Given the description of an element on the screen output the (x, y) to click on. 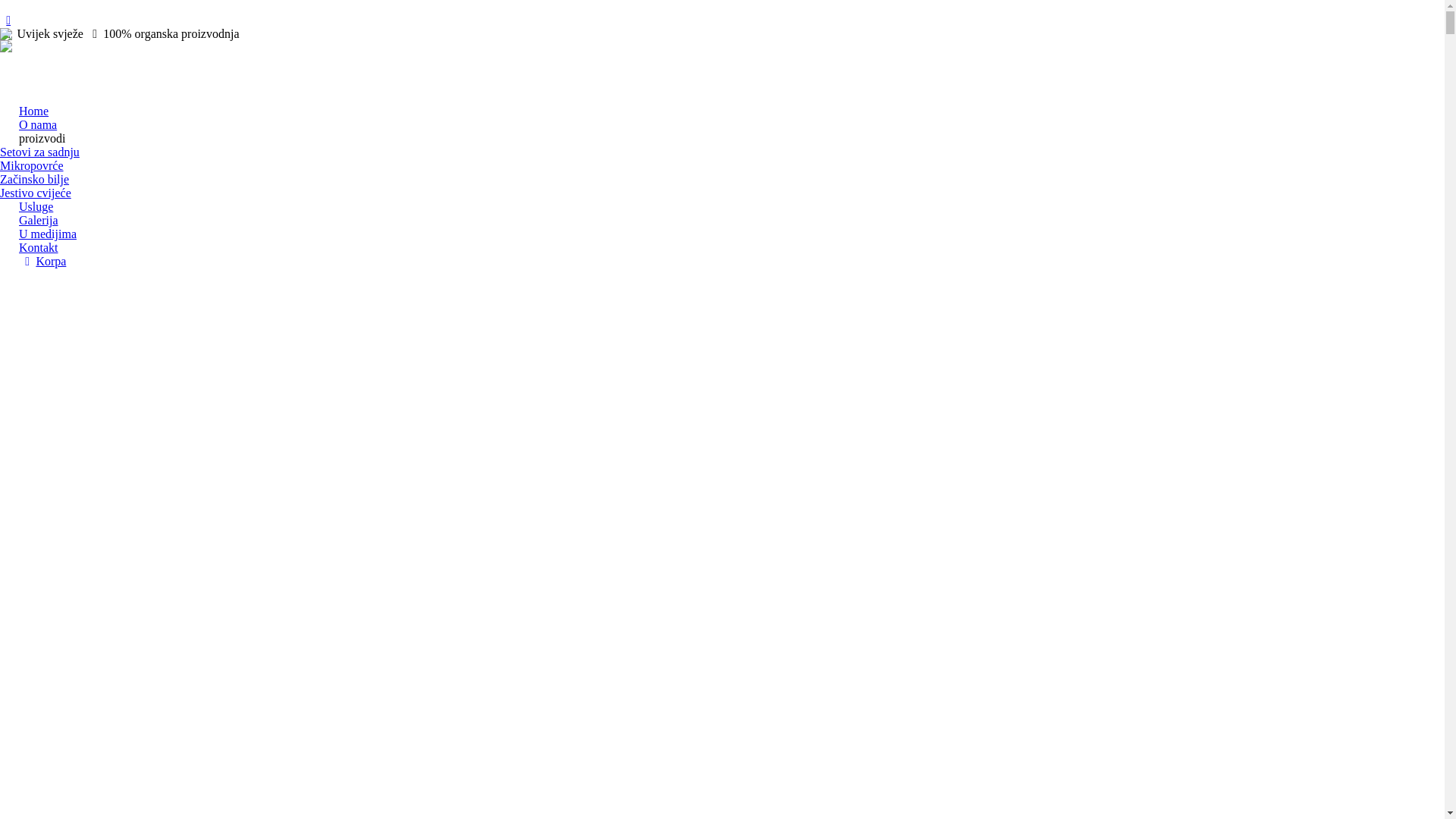
O nama Element type: text (37, 124)
Kontakt Element type: text (38, 247)
proizvodi Element type: text (42, 137)
U medijima Element type: text (47, 233)
Setovi za sadnju Element type: text (39, 151)
Usluge Element type: text (36, 206)
Galerija Element type: text (38, 219)
Greens Element type: hover (45, 51)
Home Element type: text (33, 110)
Korpa Element type: text (42, 260)
